Given the description of an element on the screen output the (x, y) to click on. 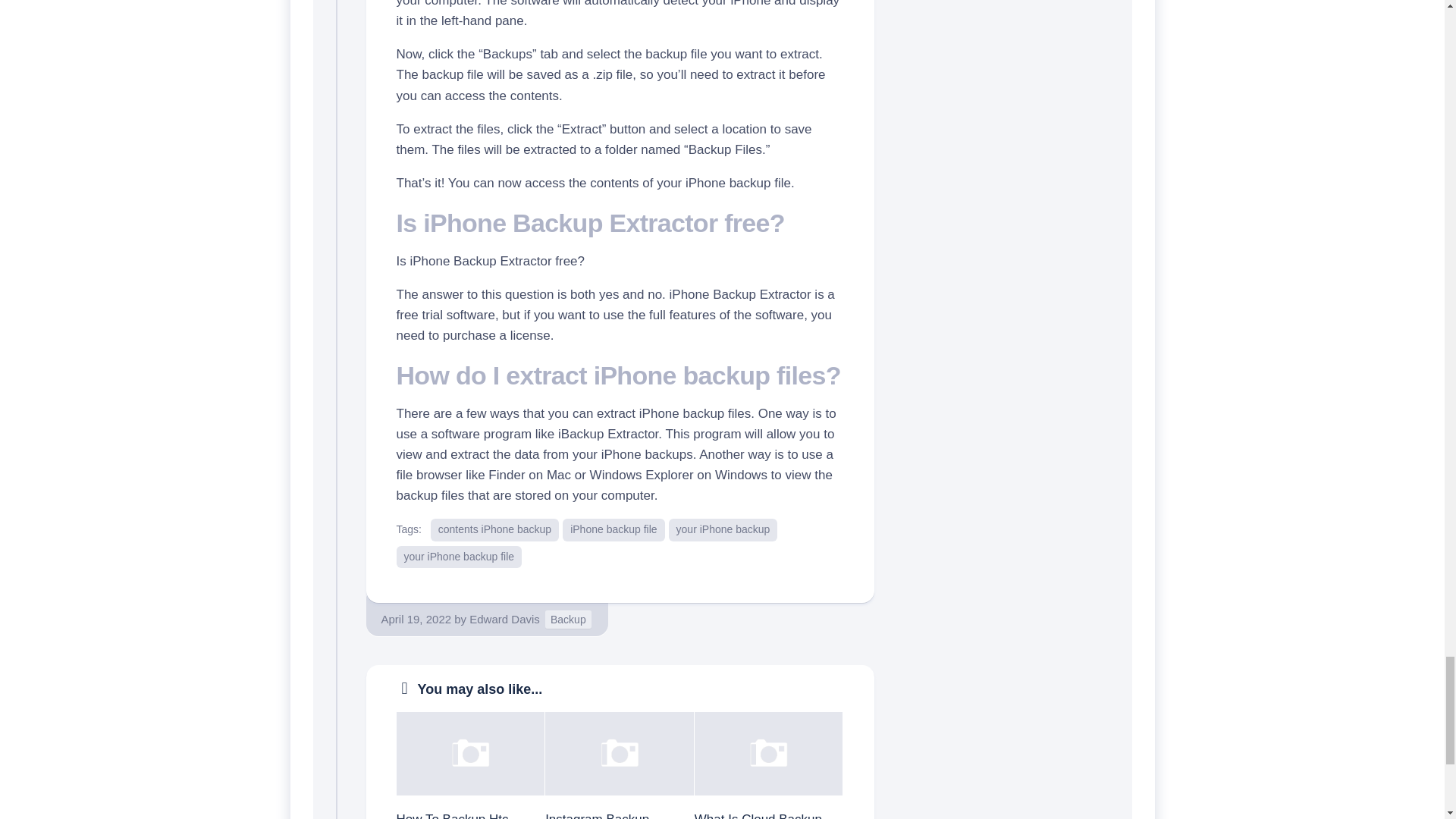
contents iPhone backup (494, 529)
your iPhone backup (722, 529)
Posts by Edward Davis (504, 618)
your iPhone backup file (458, 557)
Instagram Backup Data Viewer (596, 815)
How To Backup Htc One X (452, 815)
Edward Davis (504, 618)
Backup (567, 619)
iPhone backup file (612, 529)
